Given the description of an element on the screen output the (x, y) to click on. 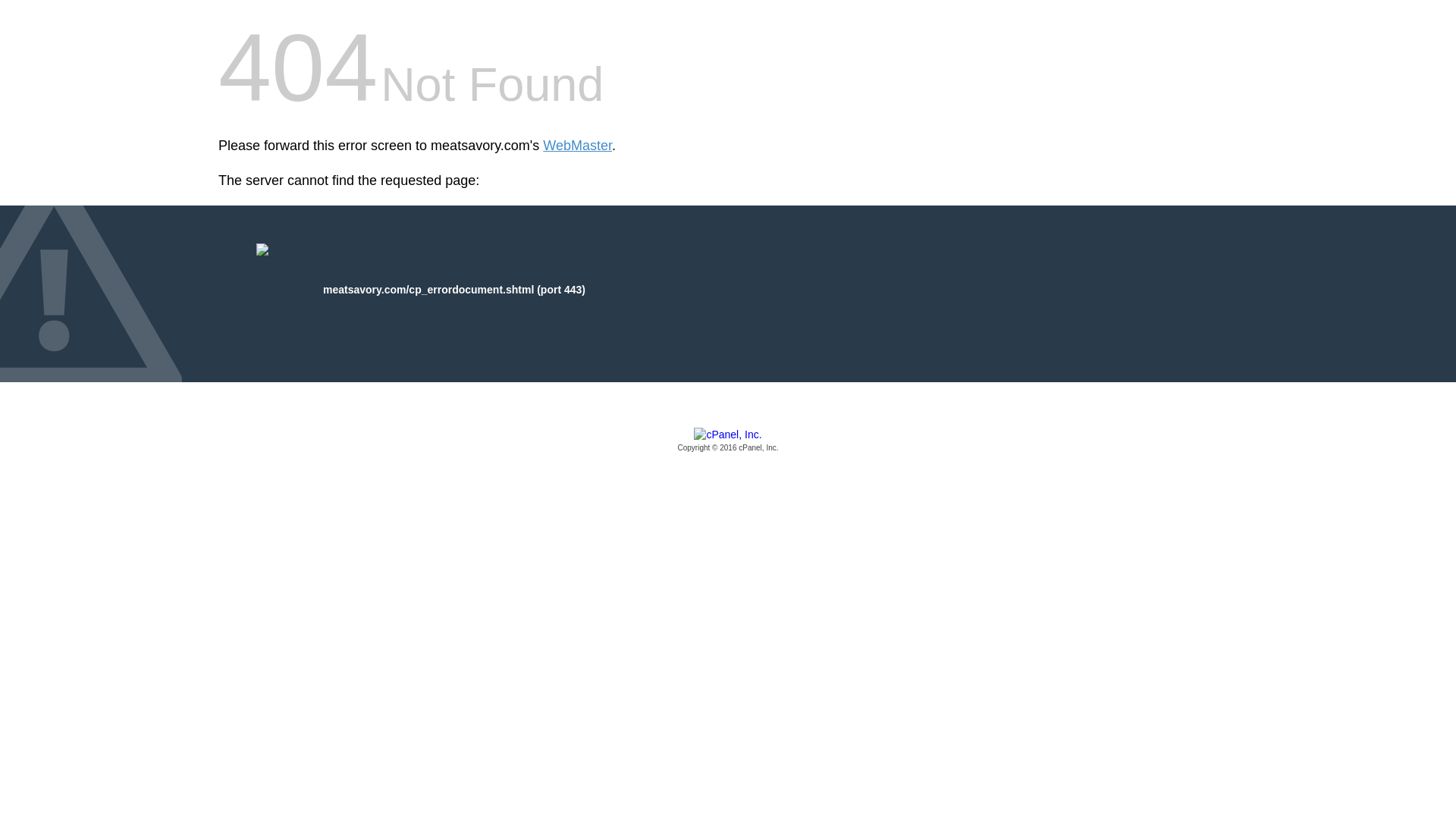
WebMaster (577, 145)
cPanel, Inc. (727, 440)
